Given the description of an element on the screen output the (x, y) to click on. 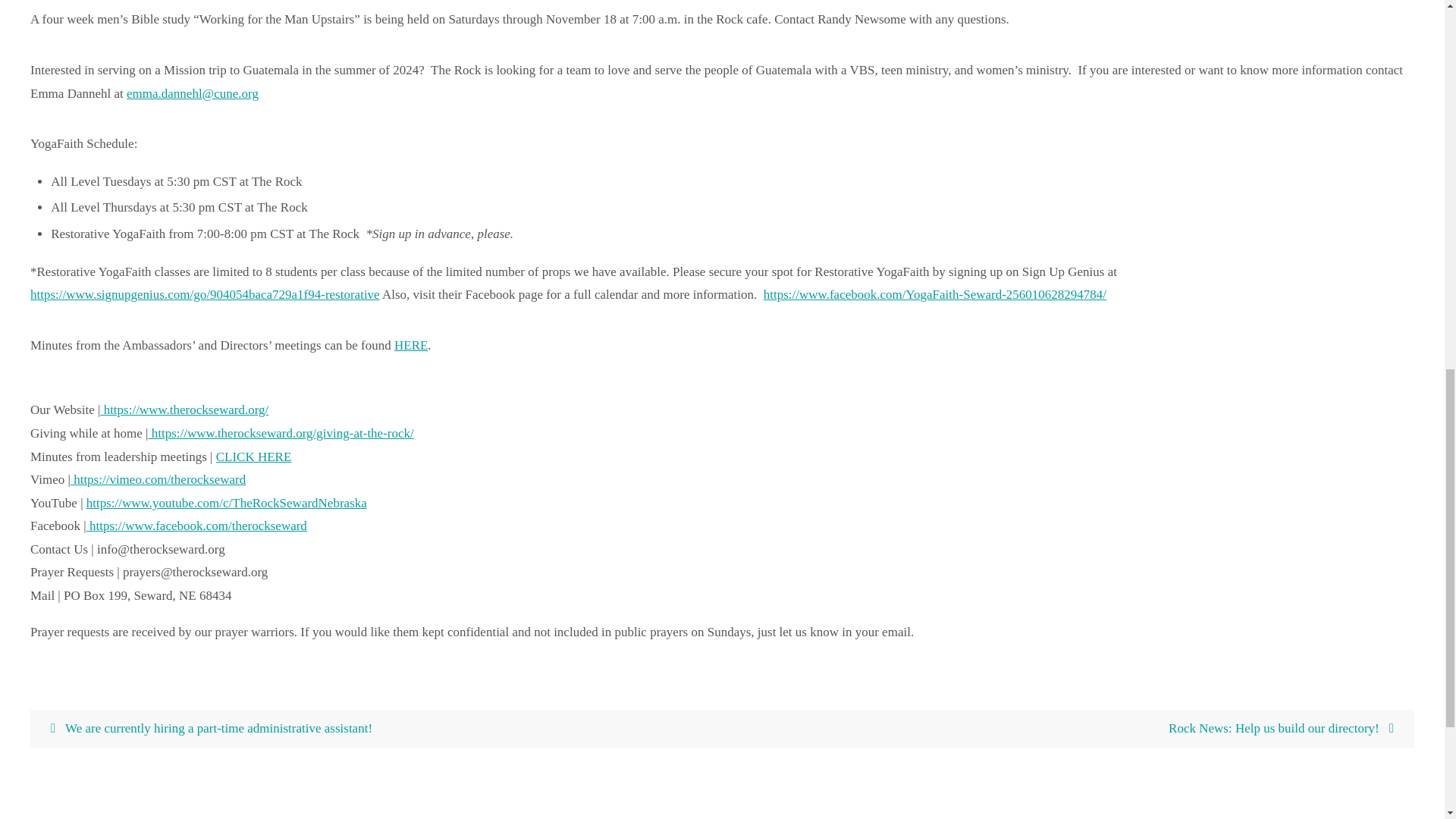
Rock News: Help us build our directory! (1067, 729)
HERE (411, 345)
CLICK HERE (253, 456)
